Given the description of an element on the screen output the (x, y) to click on. 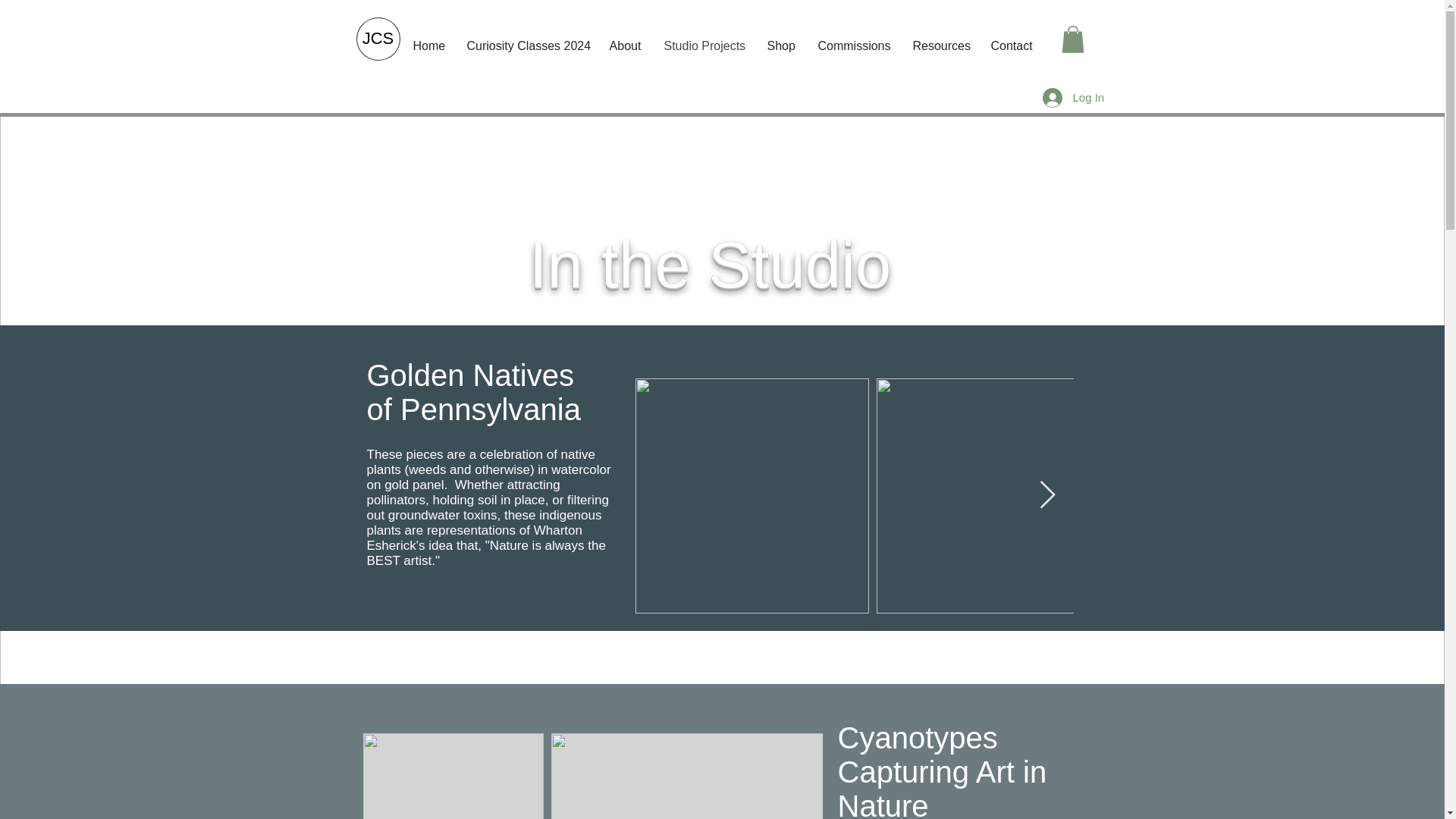
Studio Projects (703, 46)
Contact (1010, 46)
Home (428, 46)
Shop (780, 46)
Commissions (853, 46)
Log In (1061, 97)
Resources (939, 46)
Curiosity Classes 2024 (525, 46)
About (624, 46)
